Given the description of an element on the screen output the (x, y) to click on. 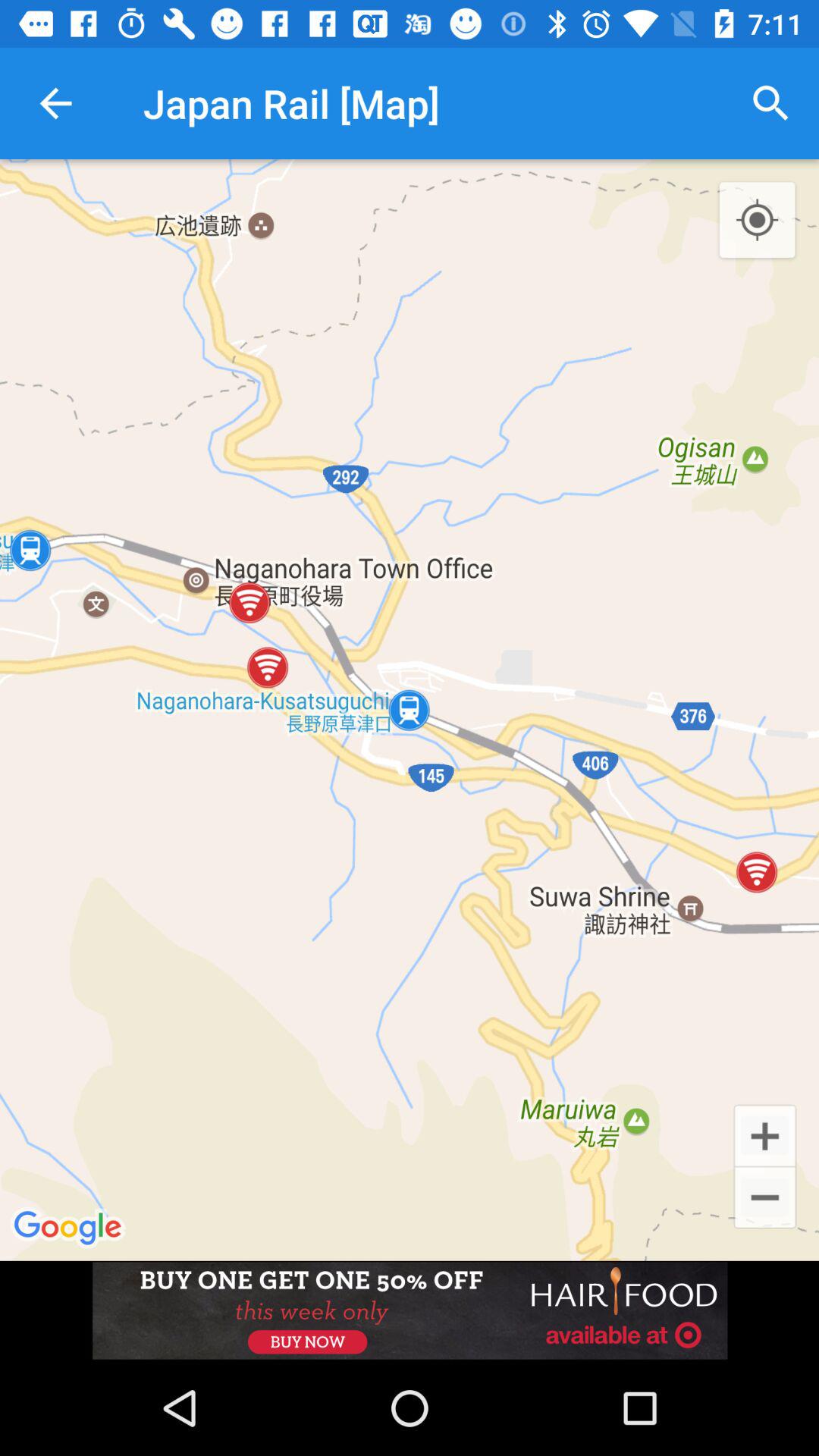
banner add (409, 1310)
